Given the description of an element on the screen output the (x, y) to click on. 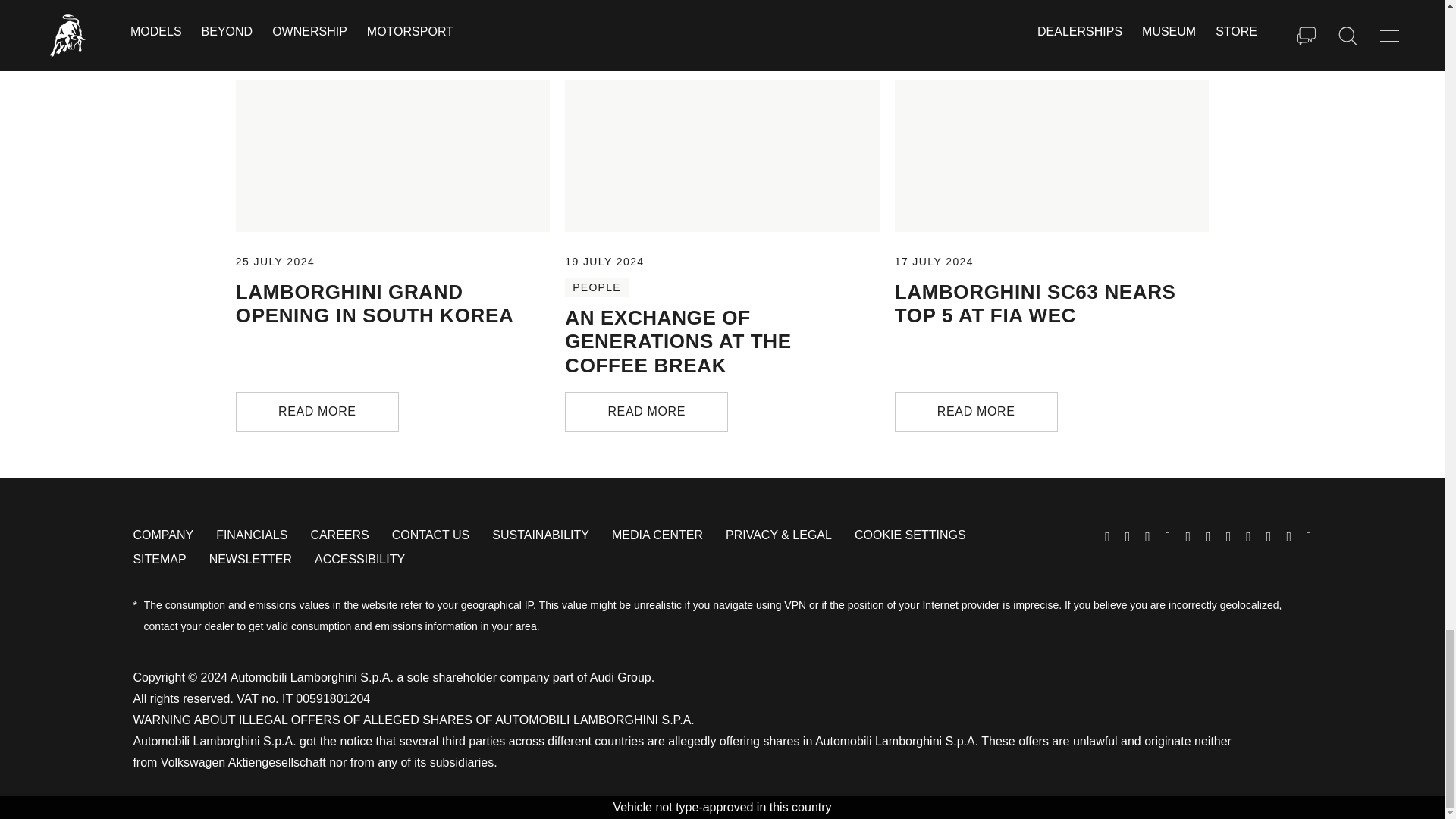
People (596, 287)
